Given the description of an element on the screen output the (x, y) to click on. 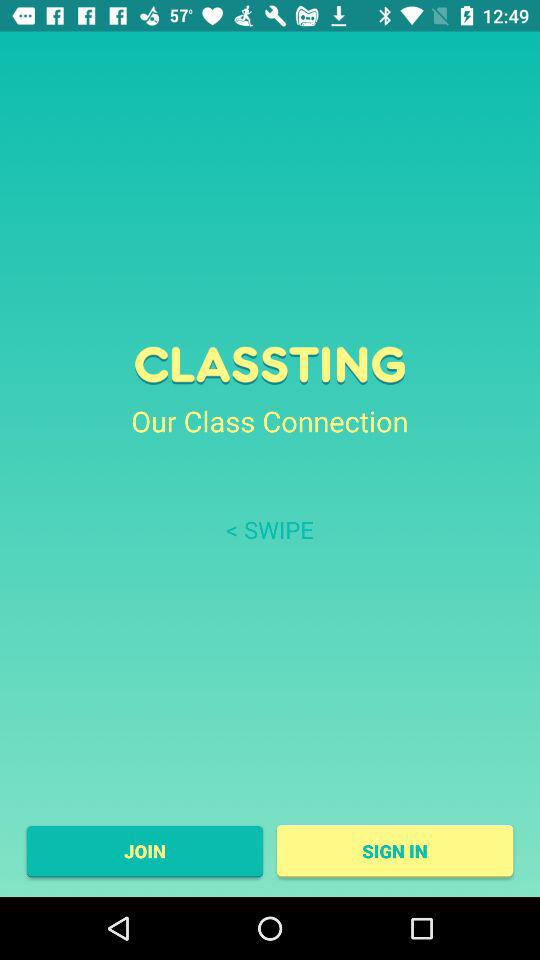
click the icon next to the sign in icon (144, 851)
